Given the description of an element on the screen output the (x, y) to click on. 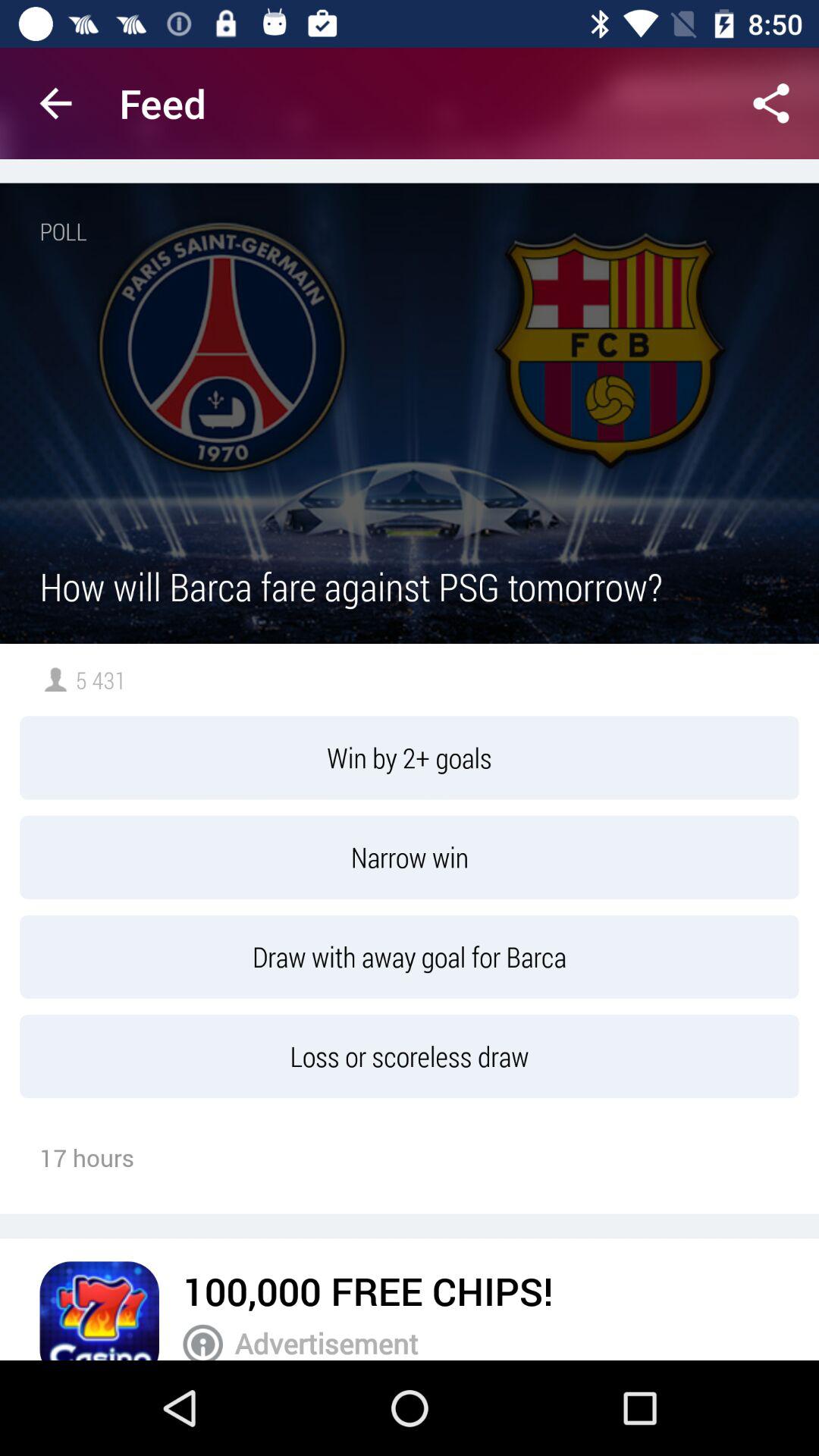
choose item below the loss or scoreless icon (368, 1290)
